Given the description of an element on the screen output the (x, y) to click on. 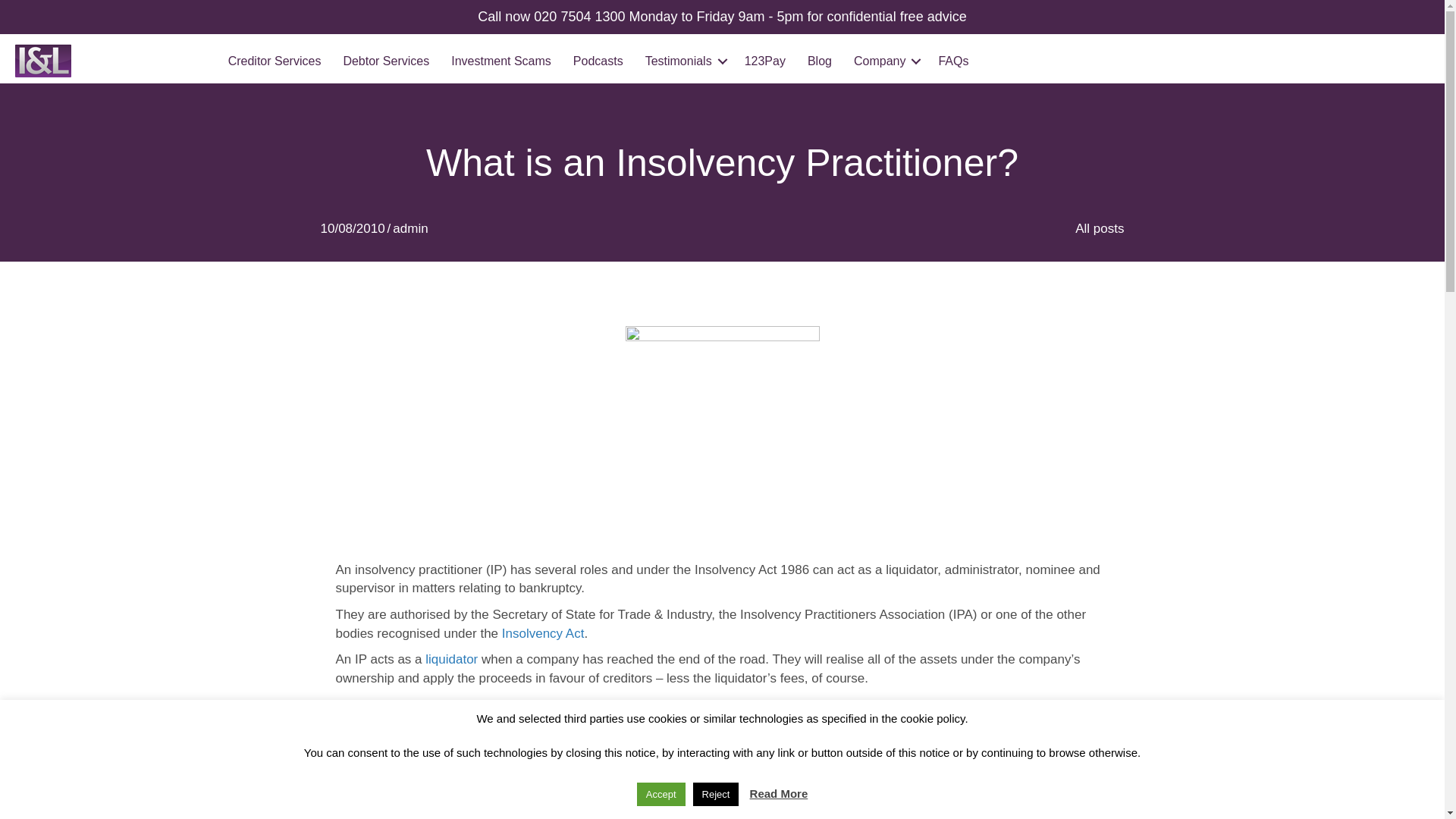
Blog (819, 60)
Investment Scams (501, 60)
administrator (447, 704)
All posts (1099, 228)
Insolvency Act (543, 633)
FAQs (952, 60)
123Pay (764, 60)
Company Voluntary Agreement (712, 803)
Debtor Services (385, 60)
Creditor Services (273, 60)
liquidator (451, 658)
Testimonials (683, 60)
Company (884, 60)
Podcasts (597, 60)
